Given the description of an element on the screen output the (x, y) to click on. 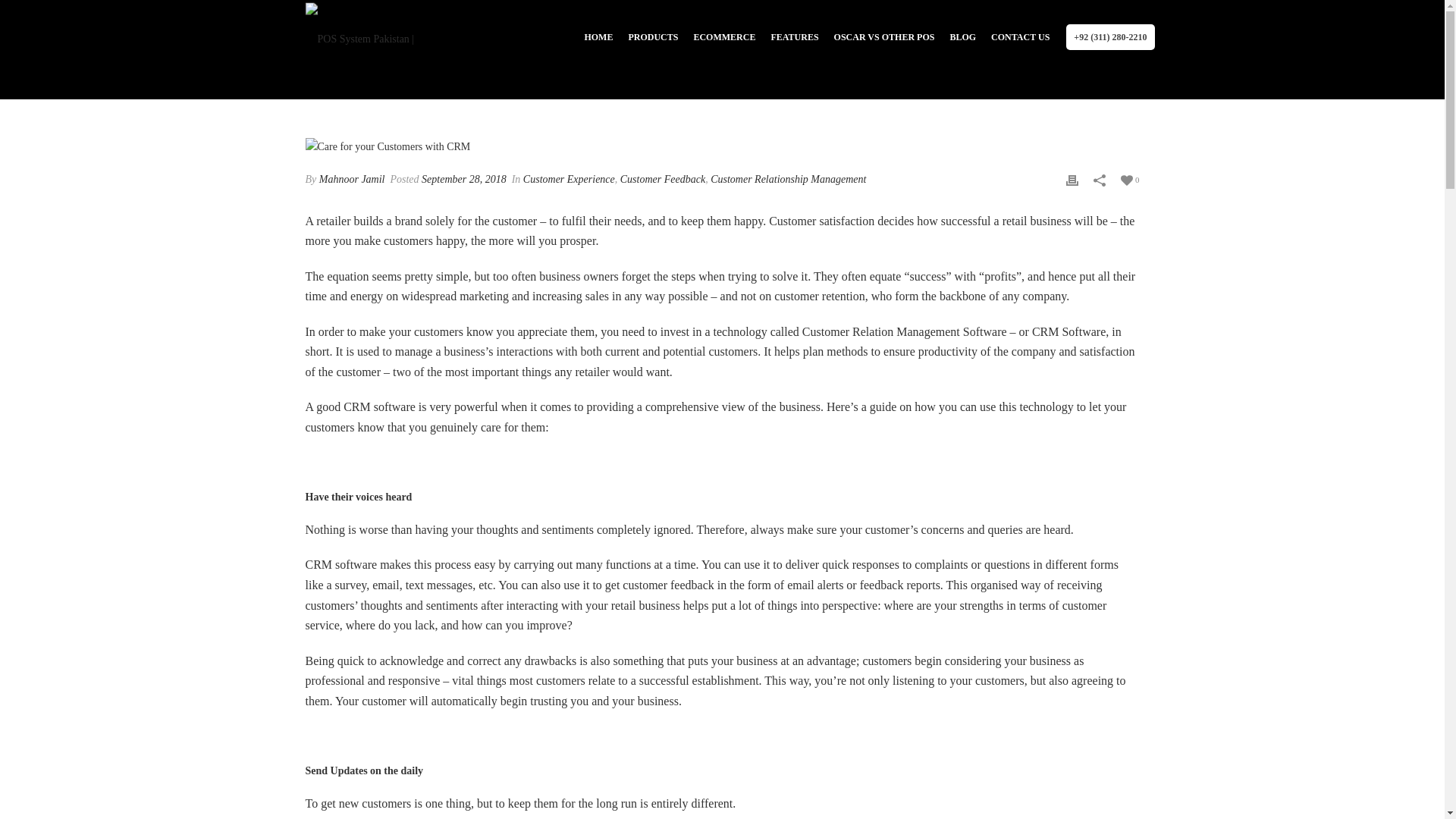
CONTACT US (1020, 36)
OSCAR VS OTHER POS (884, 36)
HOME (598, 36)
PRODUCTS (652, 36)
FEATURES (793, 36)
CONTACT US (1020, 36)
HOME (598, 36)
FEATURES (793, 36)
PRODUCTS (652, 36)
BLOG (963, 36)
Print (1071, 179)
OSCAR VS OTHER POS (884, 36)
Care for your Customers with CRM (721, 146)
Posts by Mahnoor Jamil (351, 179)
ECOMMERCE (723, 36)
